Given the description of an element on the screen output the (x, y) to click on. 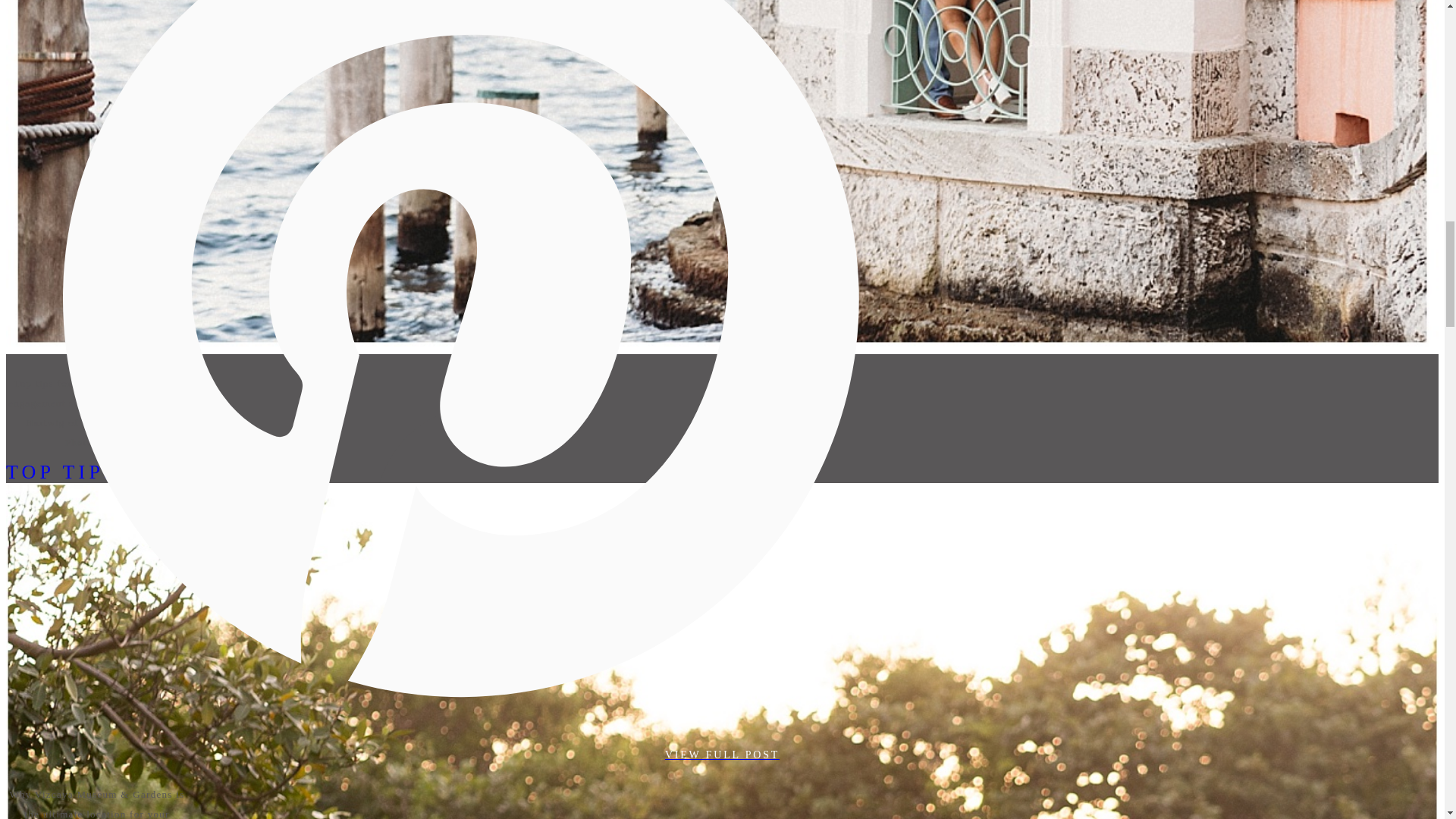
TOP TIPS FOR A DREAMY PALM BEACH ENGAGEMENT SESSION (399, 472)
